Given the description of an element on the screen output the (x, y) to click on. 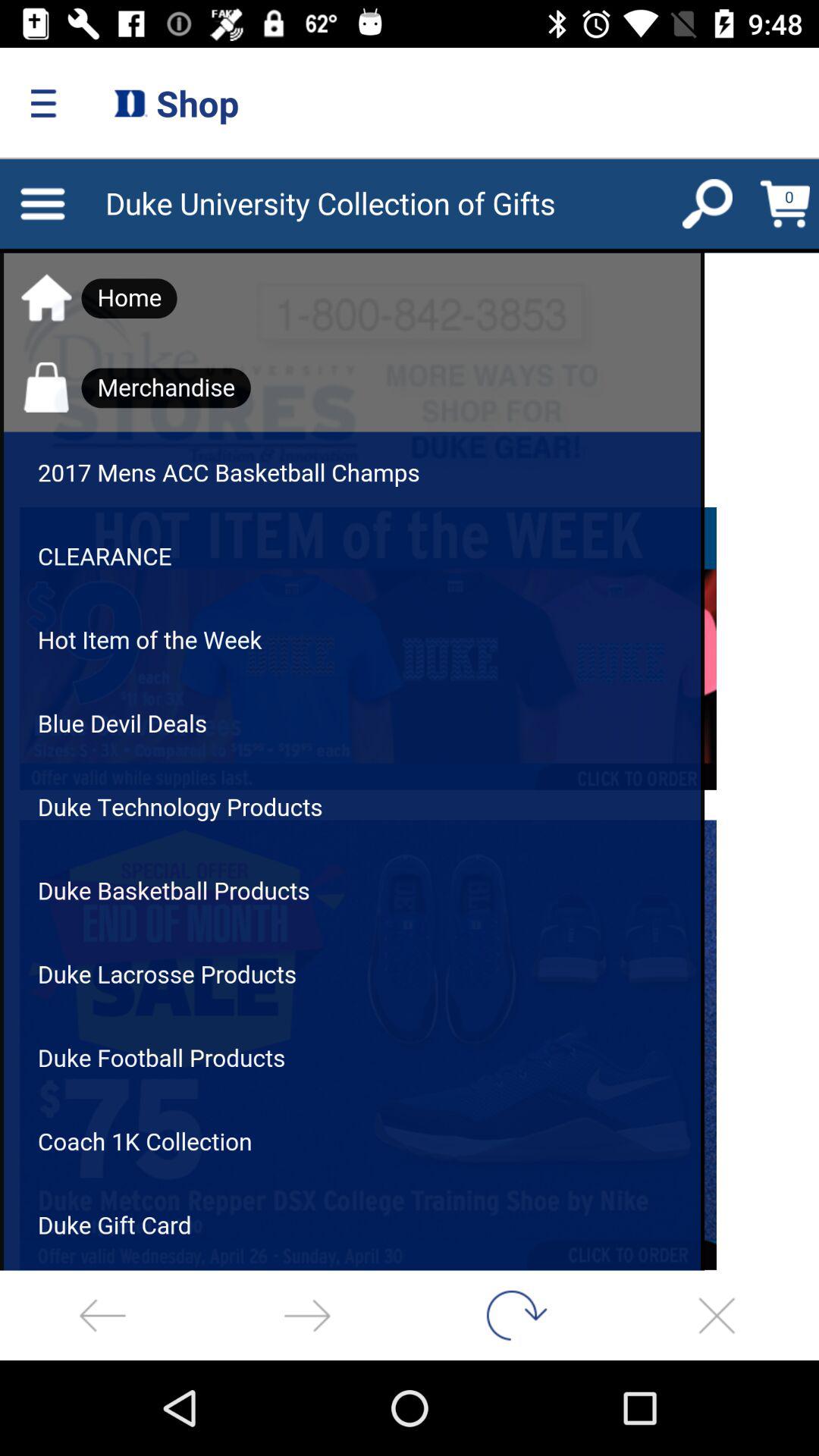
go to next (306, 1315)
